Given the description of an element on the screen output the (x, y) to click on. 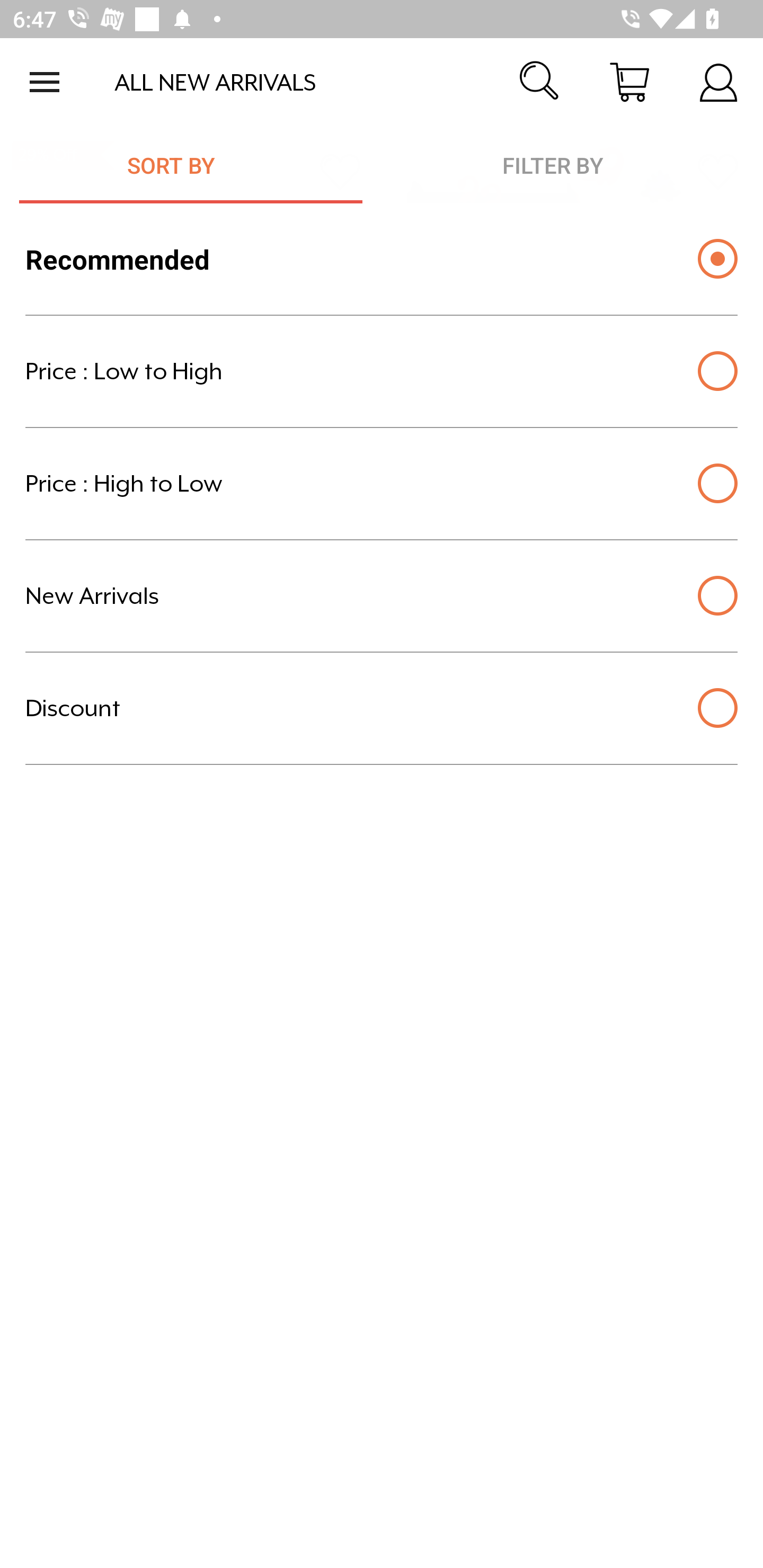
Open navigation drawer (44, 82)
Search (540, 81)
Cart (629, 81)
Account Details (718, 81)
Sort By SORT BY (181, 165)
Filter By FILTER BY (552, 165)
Recommended (381, 259)
Price : Low to High (381, 370)
Price : High to Low (381, 483)
New Arrivals (381, 596)
Discount (381, 707)
